Given the description of an element on the screen output the (x, y) to click on. 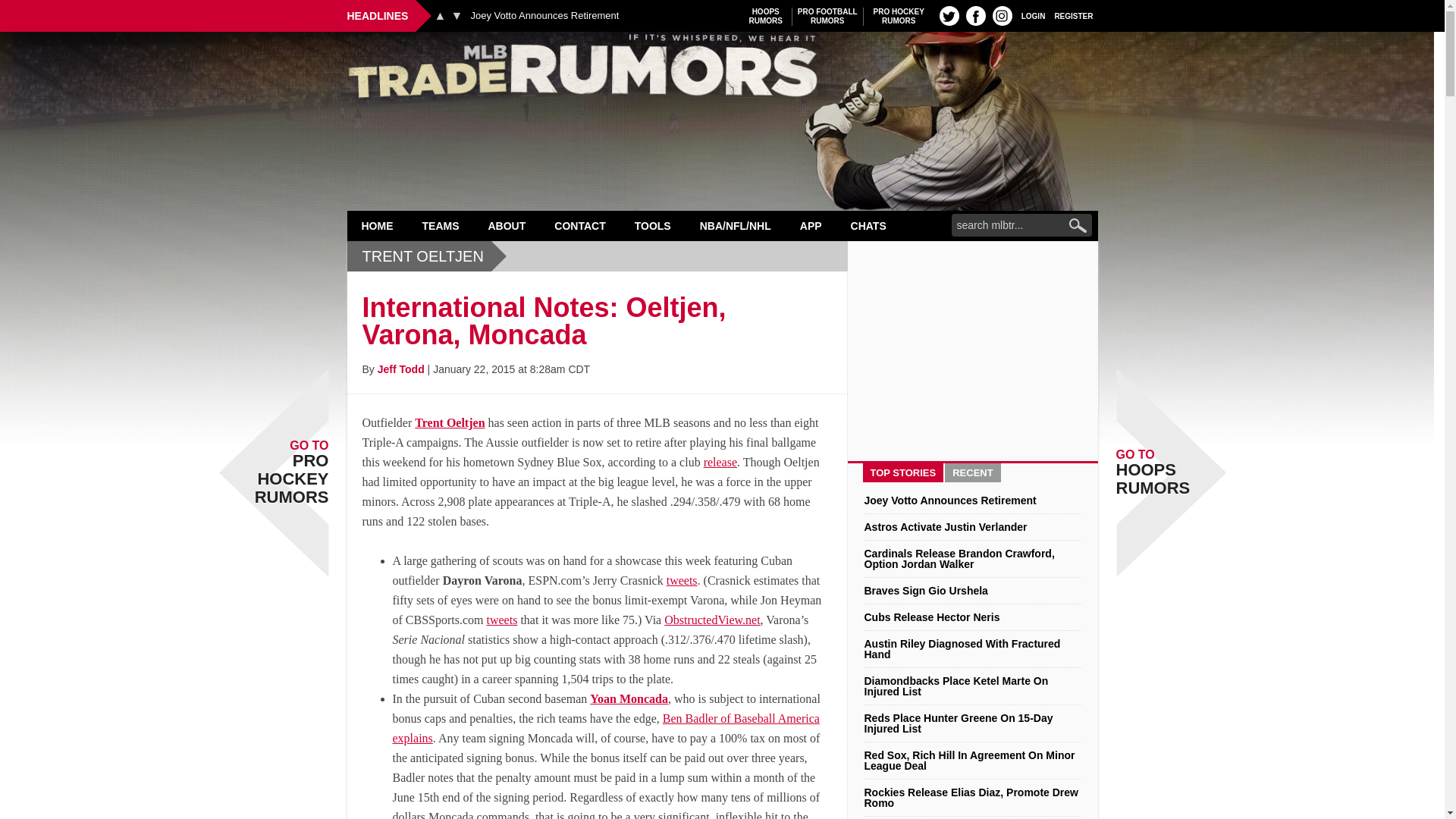
MLB Trade Rumors (898, 16)
Instagram profile (722, 69)
Joey Votto Announces Retirement (1001, 15)
Next (544, 15)
Search (456, 15)
HOME (827, 16)
Previous (949, 15)
